Given the description of an element on the screen output the (x, y) to click on. 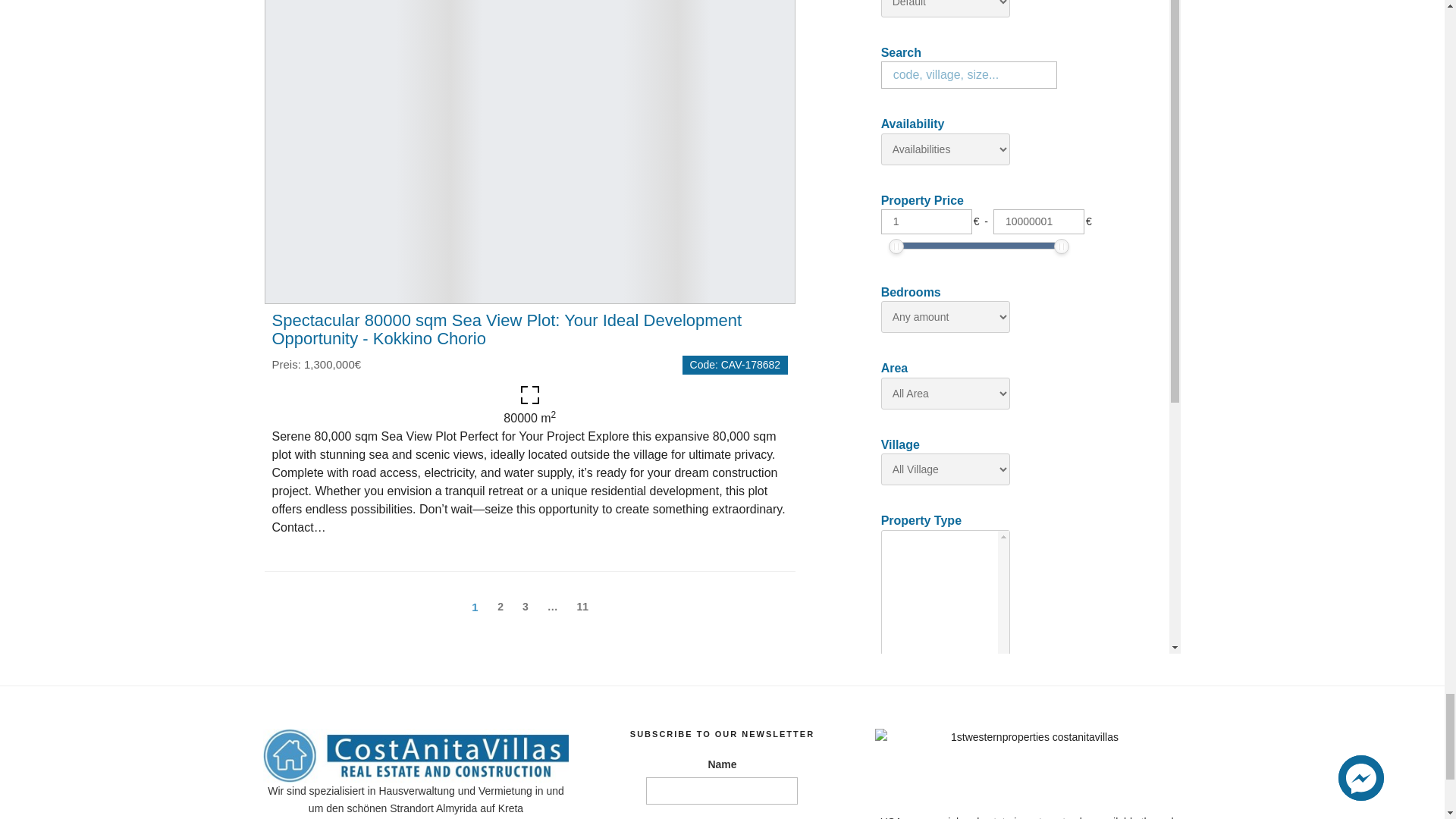
2 (500, 606)
3 (524, 606)
11 (582, 606)
Name (721, 790)
